Given the description of an element on the screen output the (x, y) to click on. 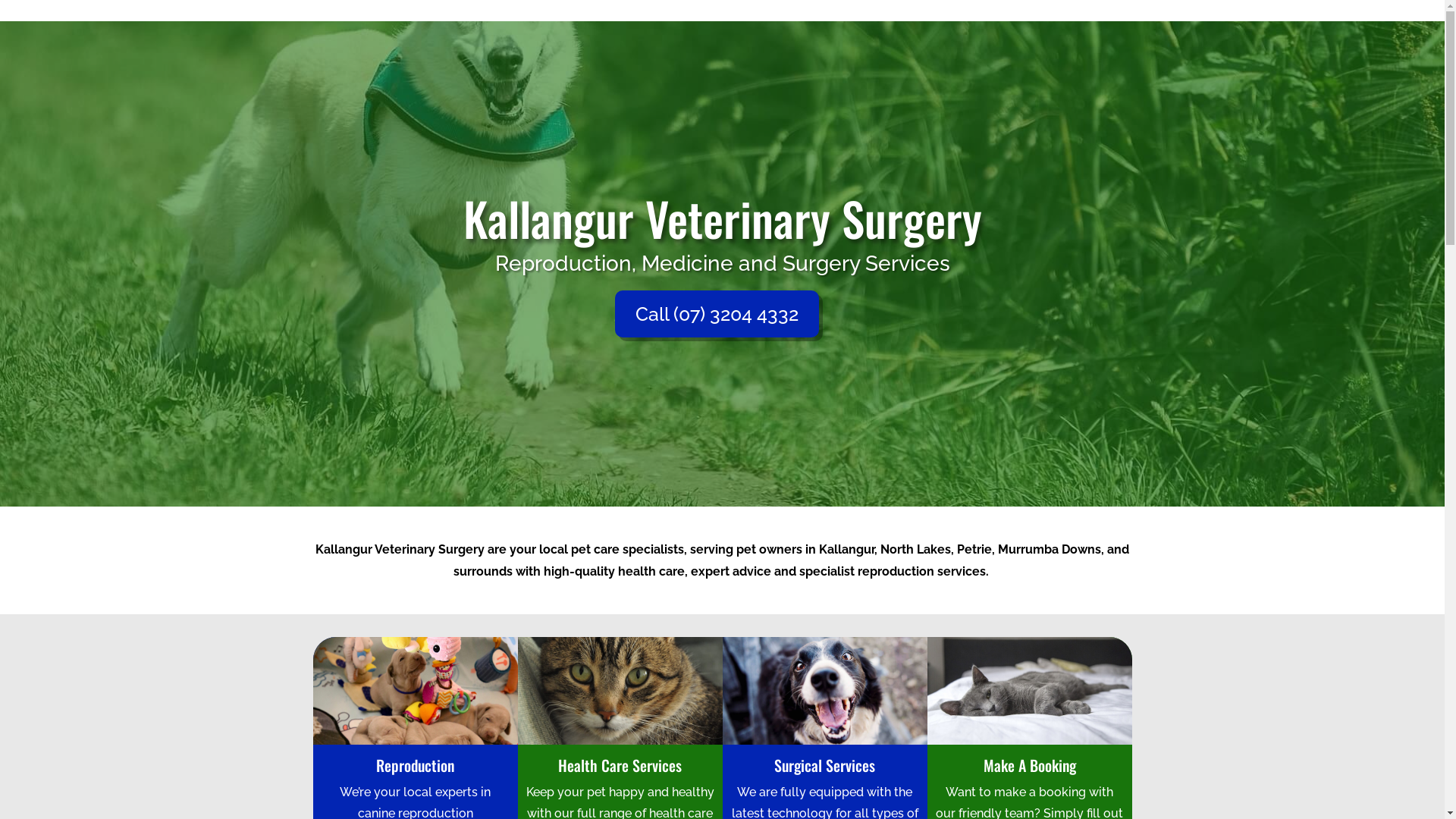
Call (07) 3204 4332 Element type: text (716, 313)
